Given the description of an element on the screen output the (x, y) to click on. 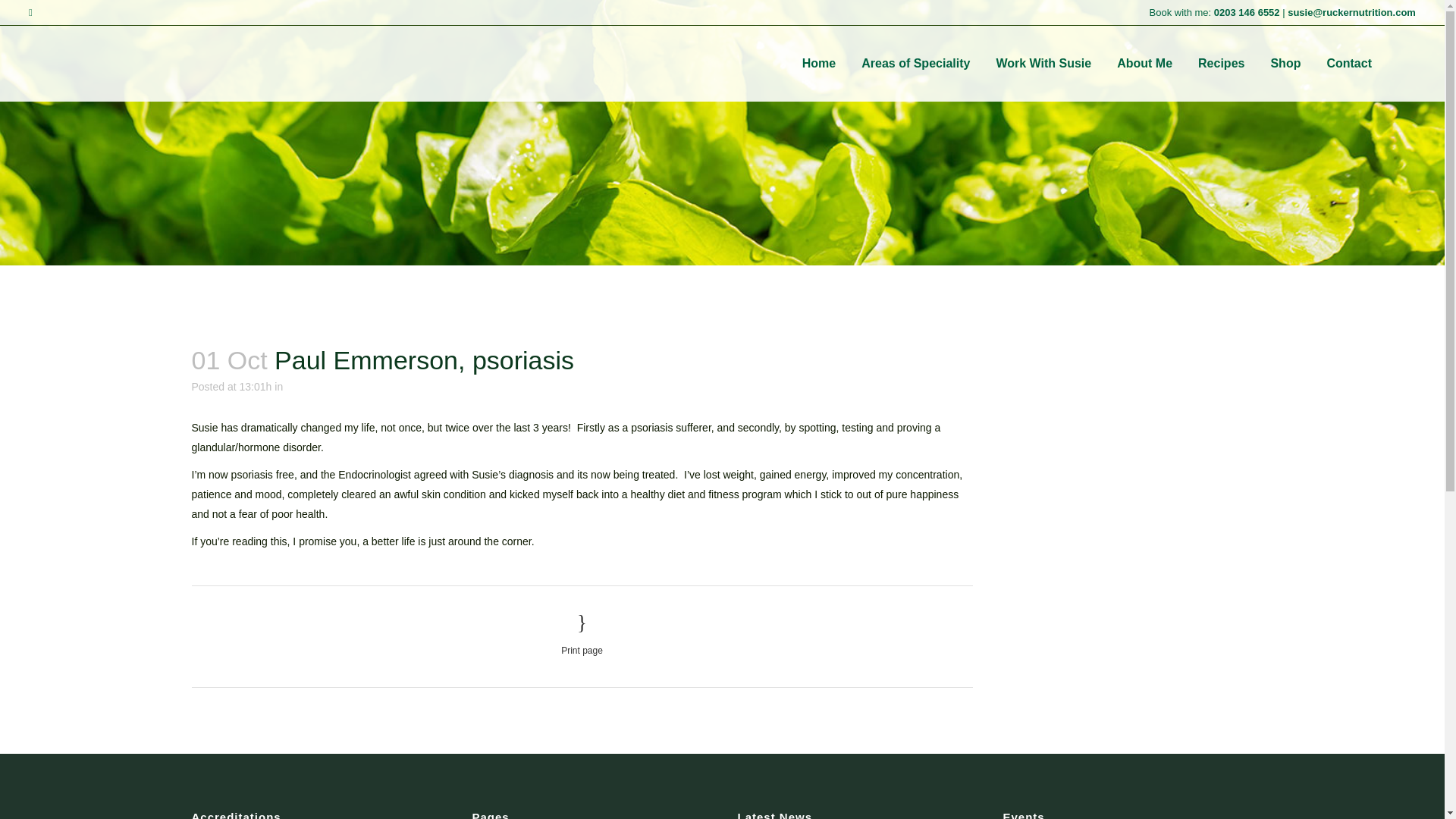
Contact (1348, 63)
Print page (581, 634)
About Me (1144, 63)
Recipes (1221, 63)
Areas of Speciality (915, 63)
Work With Susie (1042, 63)
